Given the description of an element on the screen output the (x, y) to click on. 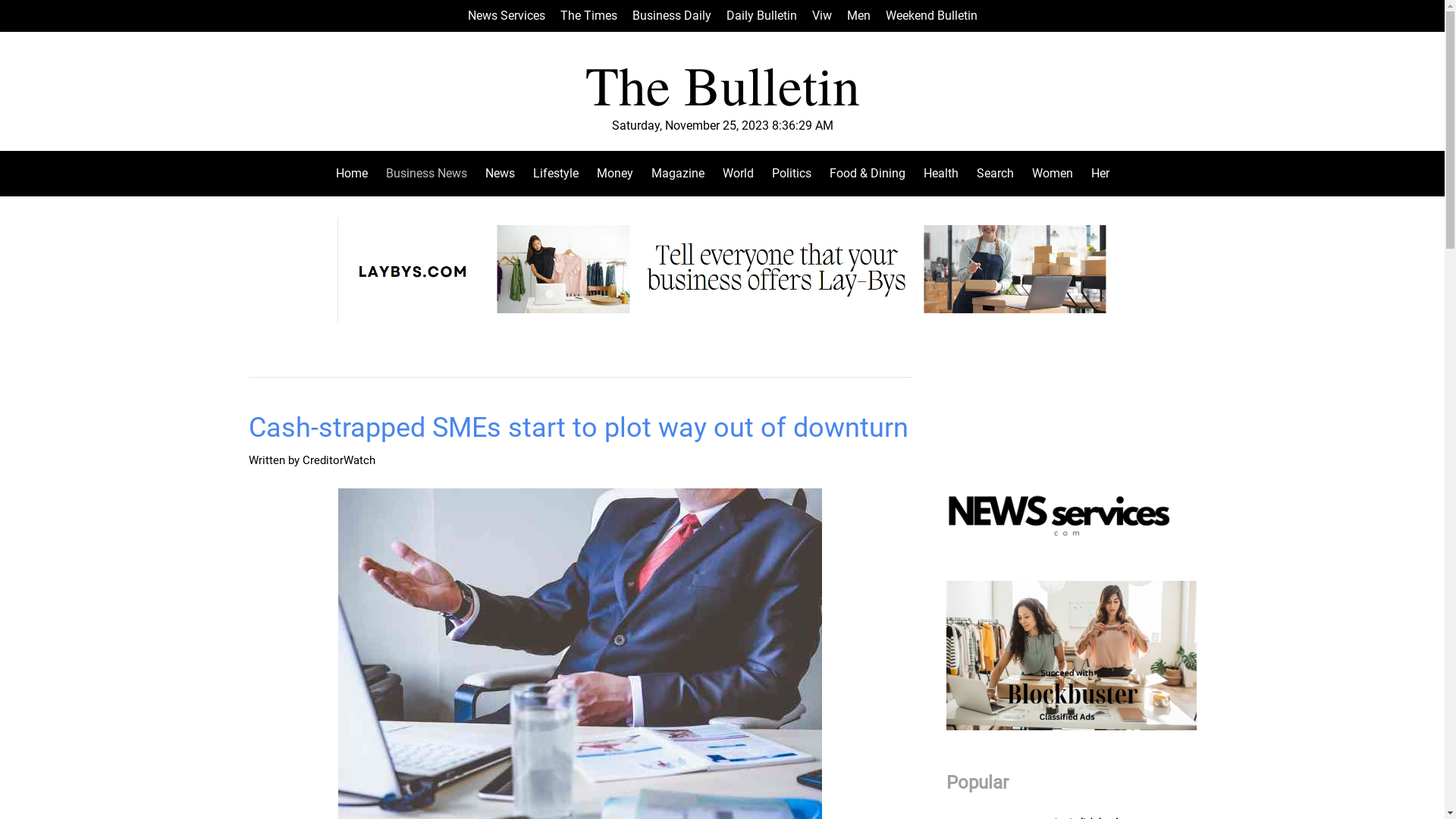
Cash-strapped SMEs start to plot way out of downturn Element type: text (578, 427)
Home Element type: text (355, 173)
Money Element type: text (613, 173)
Magazine Element type: text (676, 173)
Men Element type: text (857, 15)
Her Element type: text (1094, 173)
Women Element type: text (1051, 173)
Business Daily Element type: text (671, 15)
News Element type: text (500, 173)
The Times Element type: text (587, 15)
Lifestyle Element type: text (554, 173)
Weekend Bulletin Element type: text (931, 15)
Politics Element type: text (791, 173)
Food & Dining Element type: text (867, 173)
Health Element type: text (940, 173)
Daily Bulletin Element type: text (761, 15)
Search Element type: text (994, 173)
World Element type: text (737, 173)
Business News Element type: text (425, 173)
Viw Element type: text (821, 15)
News Services Element type: text (505, 15)
